Given the description of an element on the screen output the (x, y) to click on. 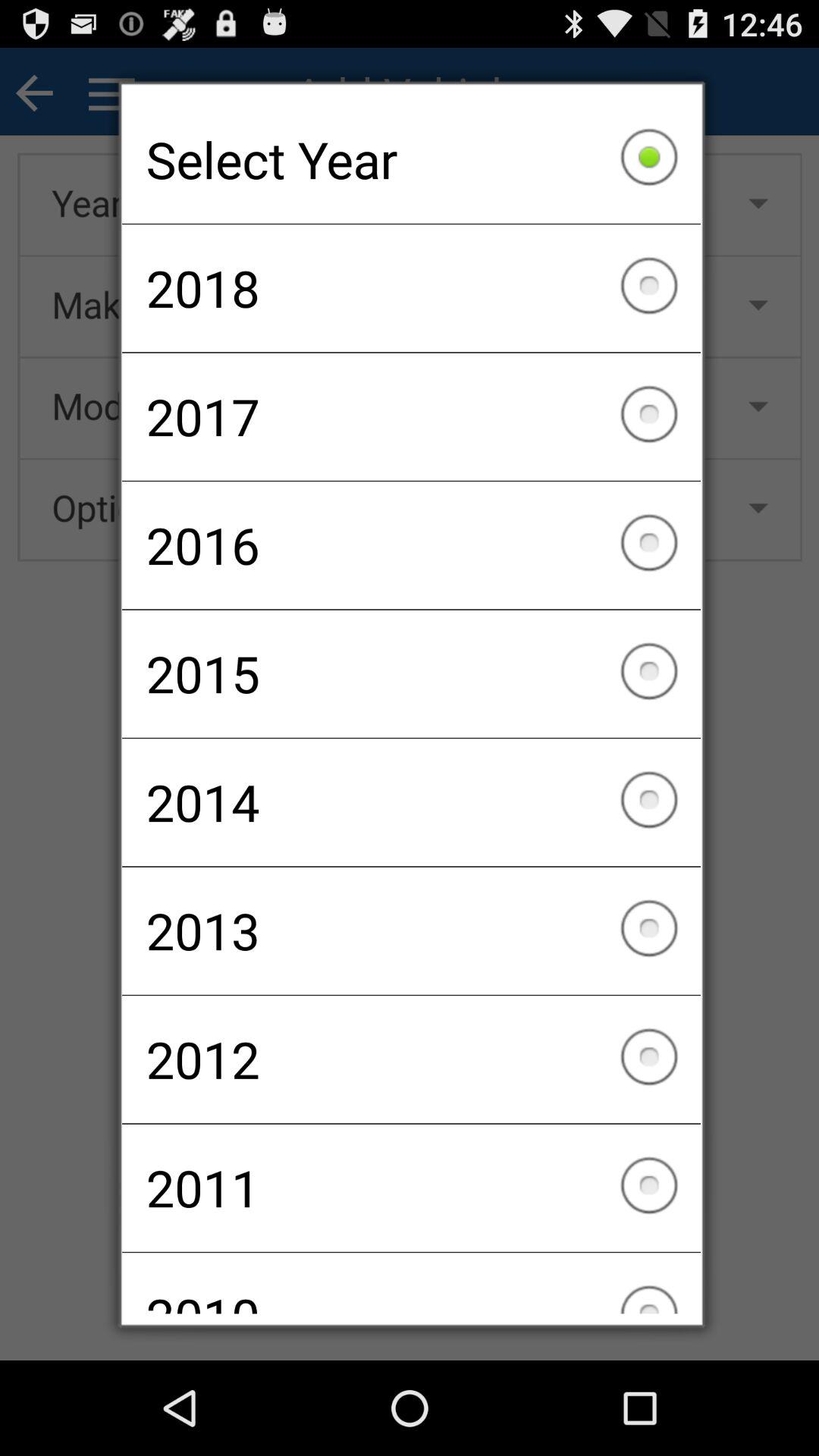
jump to 2013 icon (411, 930)
